Given the description of an element on the screen output the (x, y) to click on. 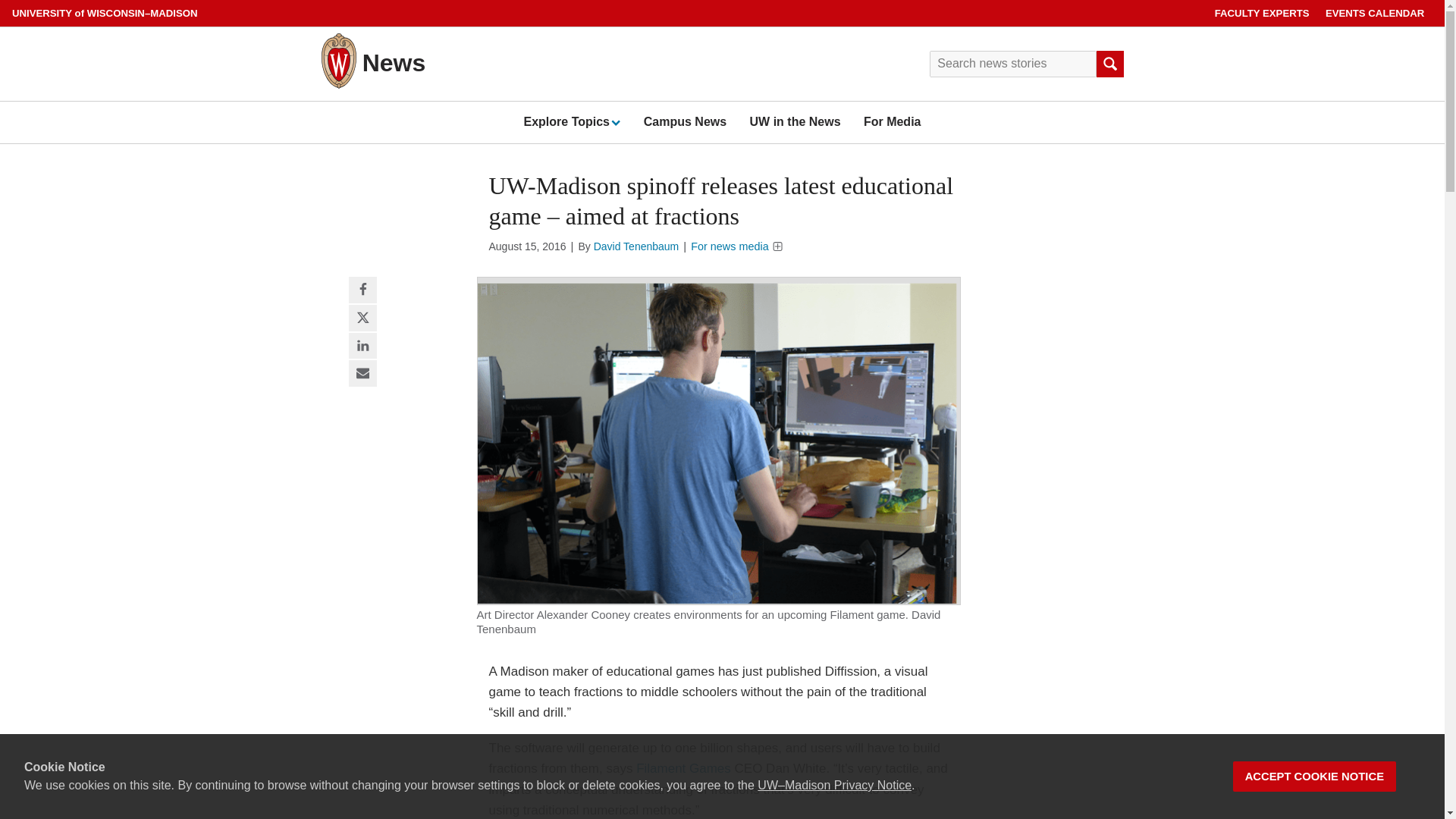
Expand (615, 122)
David Tenenbaum (636, 246)
Explore TopicsExpand (571, 121)
More information (777, 246)
Filament Games (683, 768)
Share via Linked In (362, 345)
For Media (892, 121)
Share via Facebook (362, 290)
For news media More information (736, 246)
Share via email (362, 373)
Skip to main content (3, 3)
Campus News (684, 121)
UW in the News (795, 121)
EVENTS CALENDAR (1374, 13)
ACCEPT COOKIE NOTICE (1314, 776)
